Given the description of an element on the screen output the (x, y) to click on. 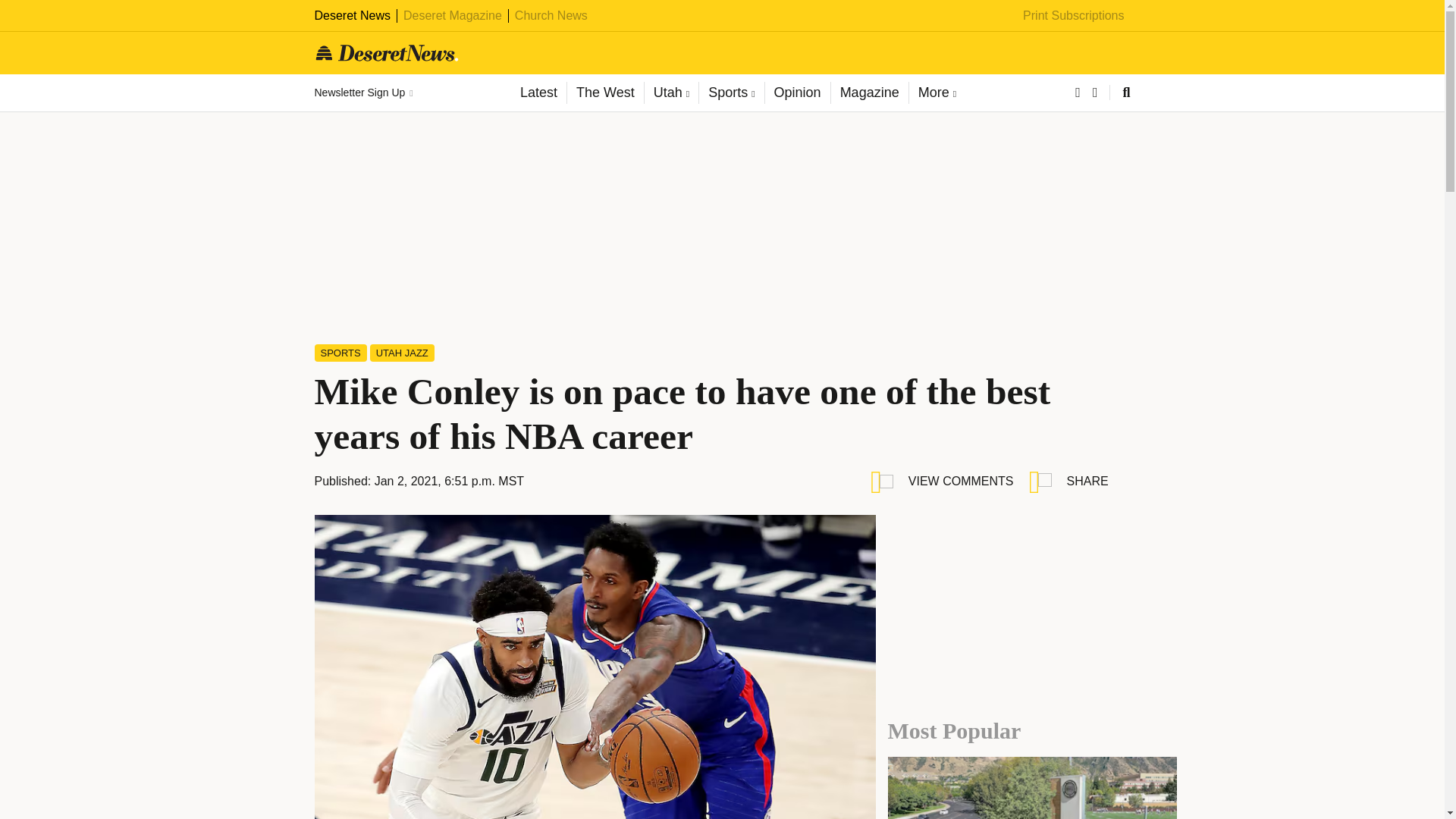
Church News (551, 15)
The West (604, 92)
UTAH JAZZ (401, 352)
Magazine (868, 92)
Print Subscriptions (1073, 15)
Deseret News (352, 15)
Latest (538, 92)
Utah (670, 92)
Newsletter Sign Up (363, 92)
SPORTS (340, 352)
